Given the description of an element on the screen output the (x, y) to click on. 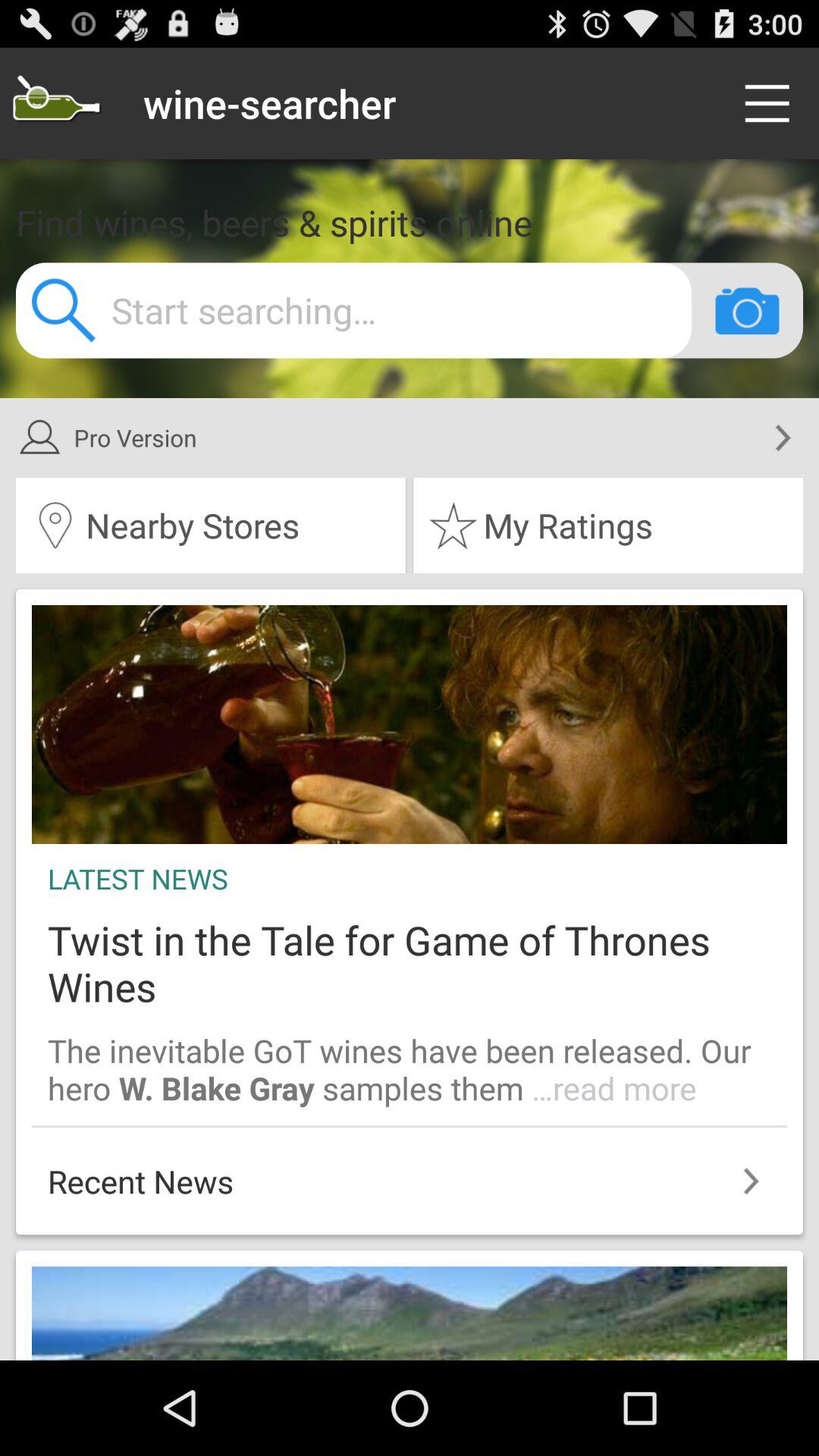
press the icon below the the inevitable got icon (409, 1172)
